Given the description of an element on the screen output the (x, y) to click on. 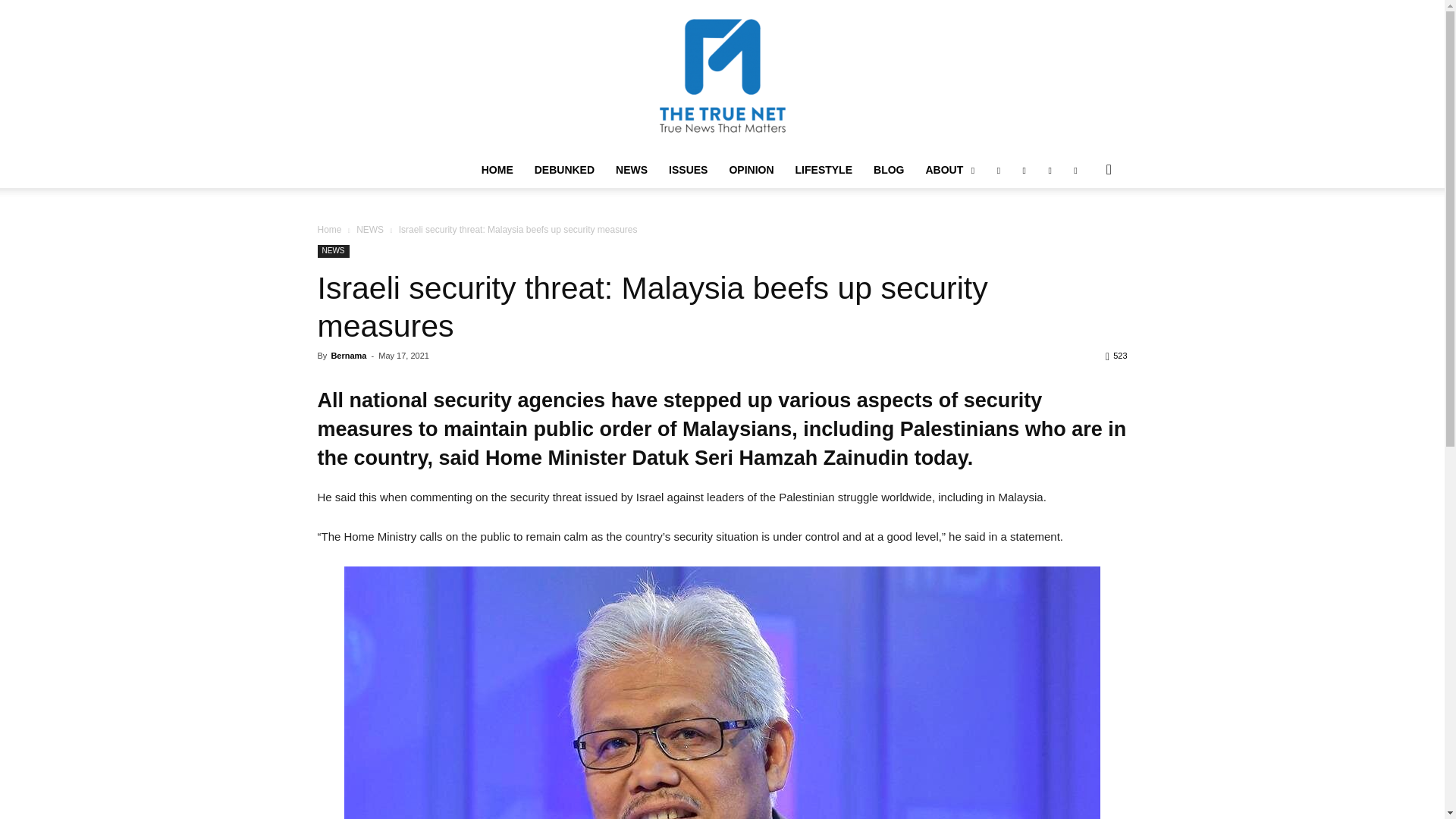
View all posts in NEWS (370, 229)
DEBUNKED (564, 169)
ISSUES (687, 169)
OPINION (750, 169)
HOME (497, 169)
NEWS (631, 169)
True News That Matters (721, 75)
